Given the description of an element on the screen output the (x, y) to click on. 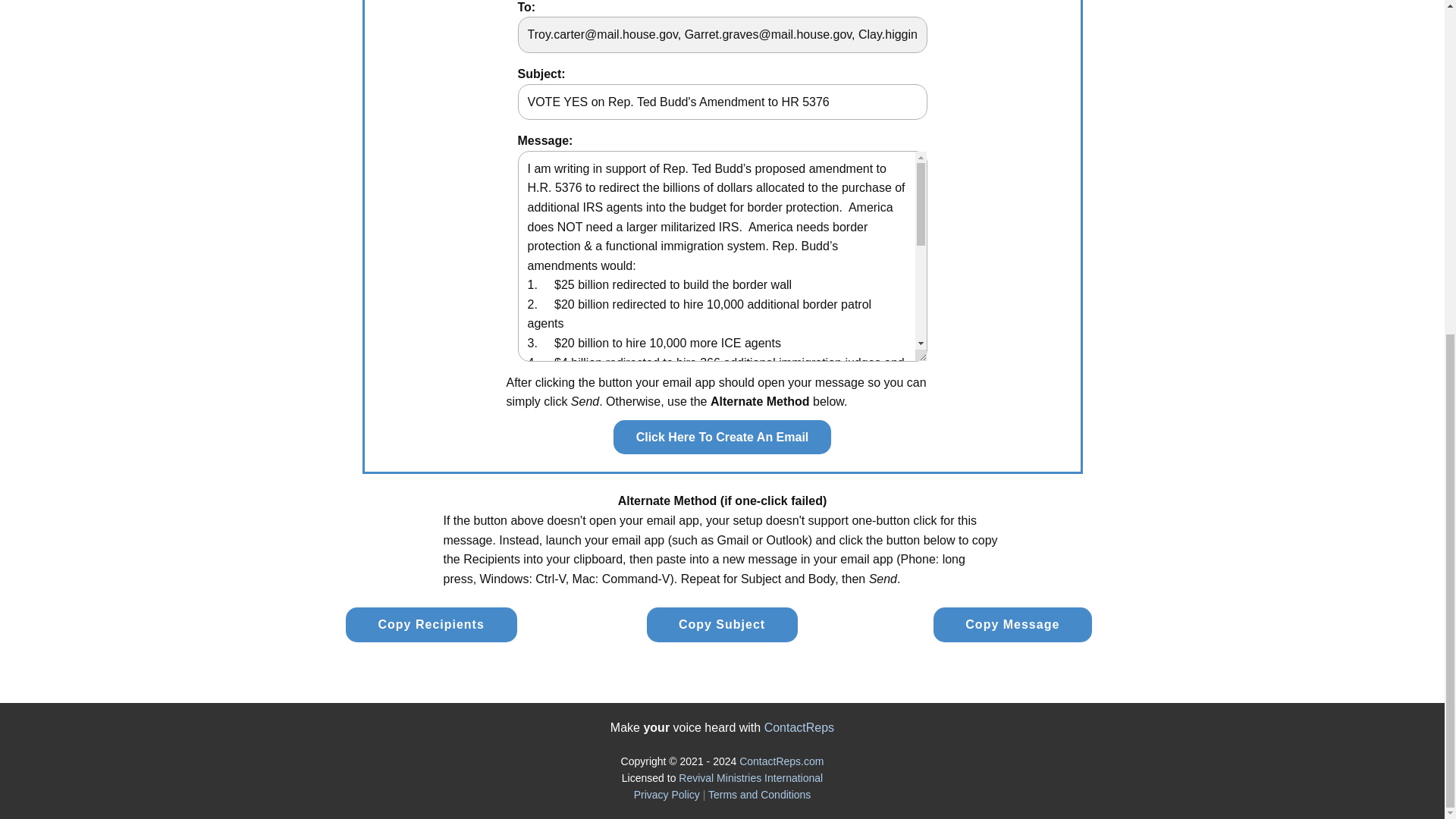
Copy Message (1012, 624)
ContactReps (799, 727)
Revival Ministries International (750, 777)
Click Here To Create An Email (721, 437)
ContactReps.com (781, 761)
Terms and Conditions (758, 794)
Copy Recipients (431, 624)
Copy Subject (721, 624)
Privacy Policy (666, 794)
VOTE YES on Rep. Ted Budd's Amendment to HR 5376 (721, 102)
